Given the description of an element on the screen output the (x, y) to click on. 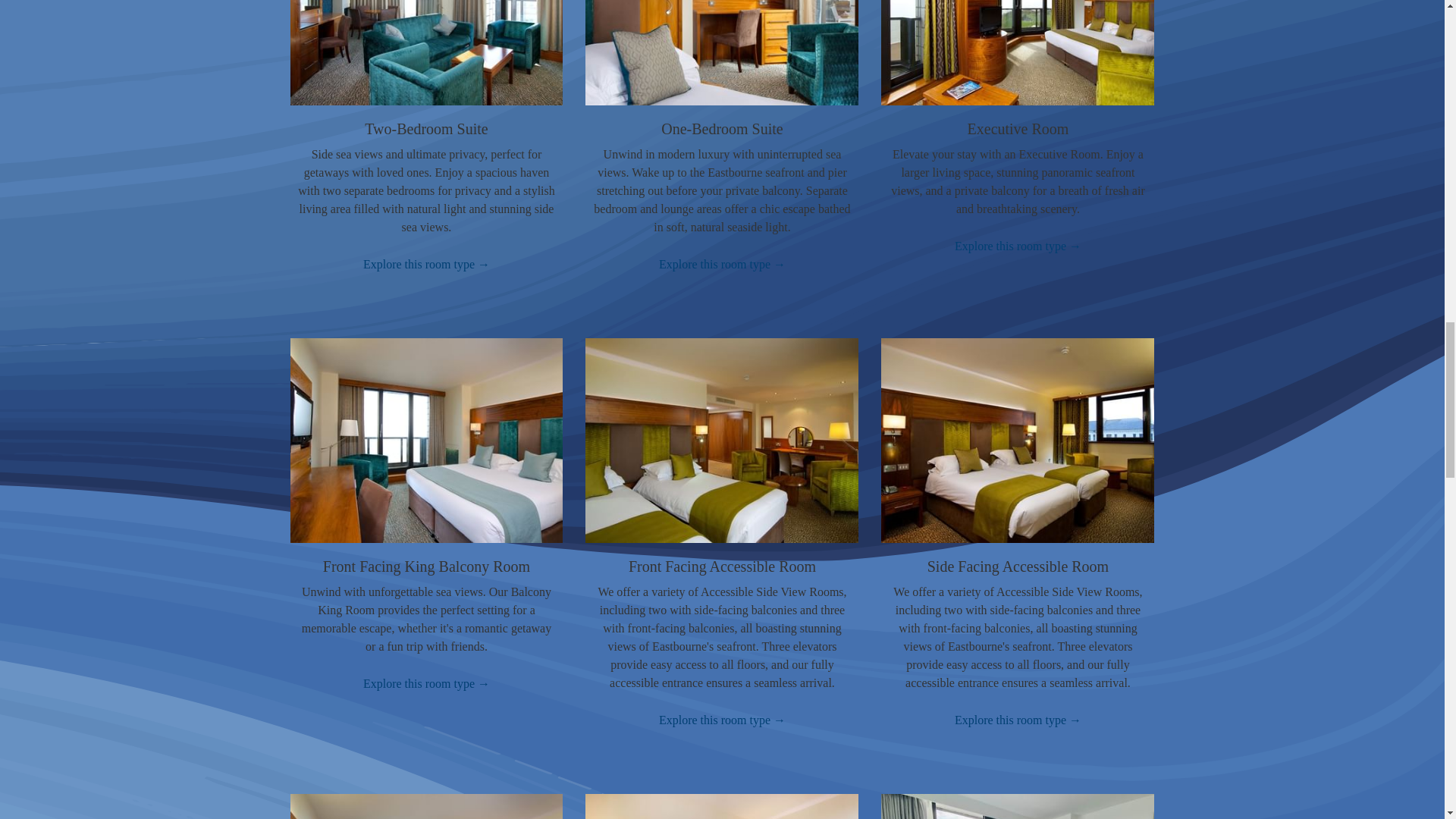
Two-Bedroom Suite (426, 128)
Executive Room (1018, 128)
Front Facing King Balcony Room (426, 565)
Explore this room type (722, 264)
Explore this room type (1018, 246)
One-Bedroom Suite (722, 128)
Front Facing Accessible Room (721, 565)
Explore this room type (1018, 720)
Explore this room type (425, 264)
Explore this room type (425, 683)
